Given the description of an element on the screen output the (x, y) to click on. 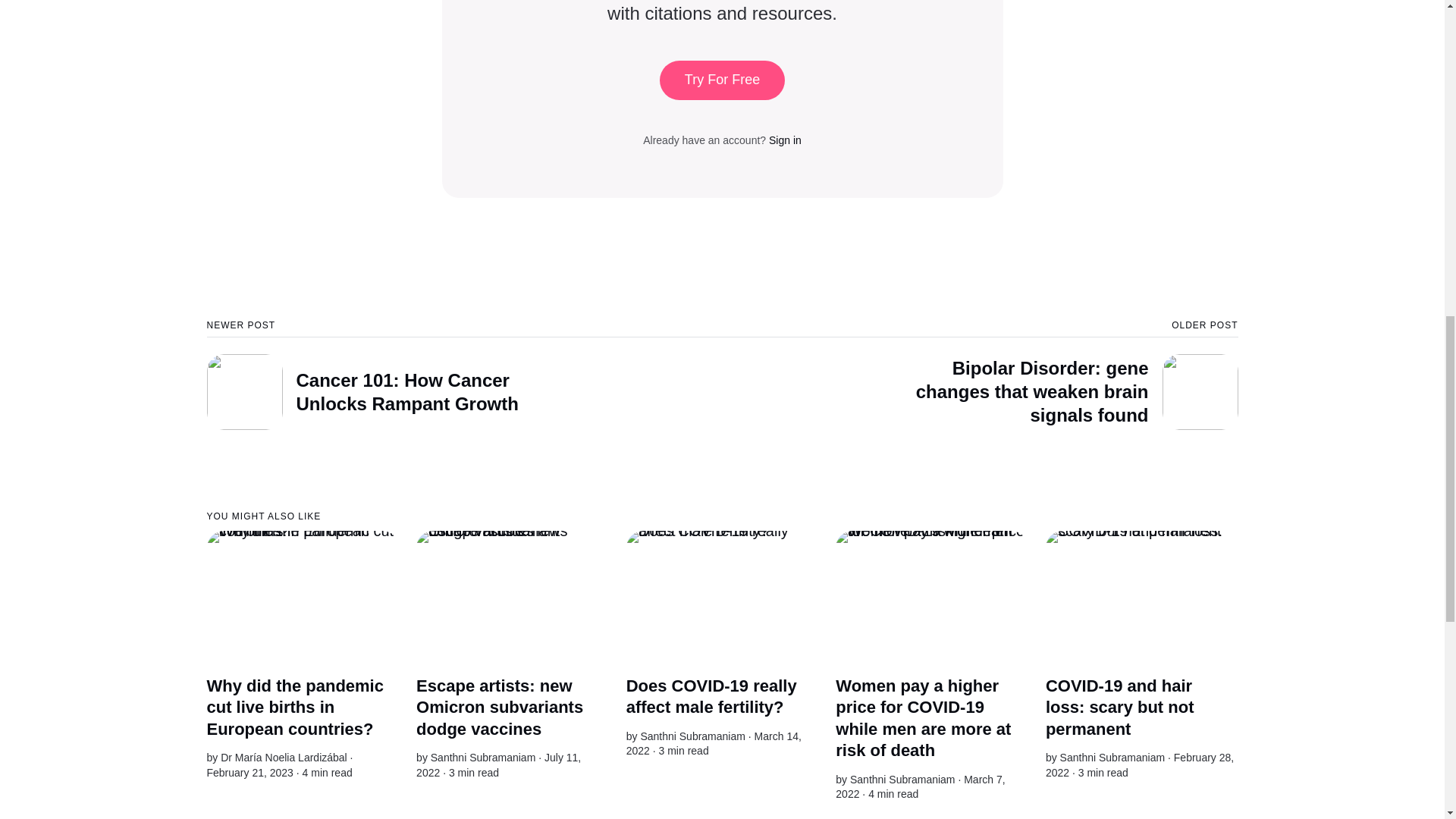
COVID-19 and hair loss: scary but not permanent (1119, 707)
Santhni Subramaniam (1112, 757)
Try For Free (721, 79)
Santhni Subramaniam (692, 736)
Santhni Subramaniam (902, 779)
Escape artists: new Omicron subvariants dodge vaccines (499, 707)
Why did the pandemic cut live births in European countries? (294, 707)
Does COVID-19 really affect male fertility? (711, 696)
Santhni Subramaniam (482, 757)
Sign in (785, 140)
